Given the description of an element on the screen output the (x, y) to click on. 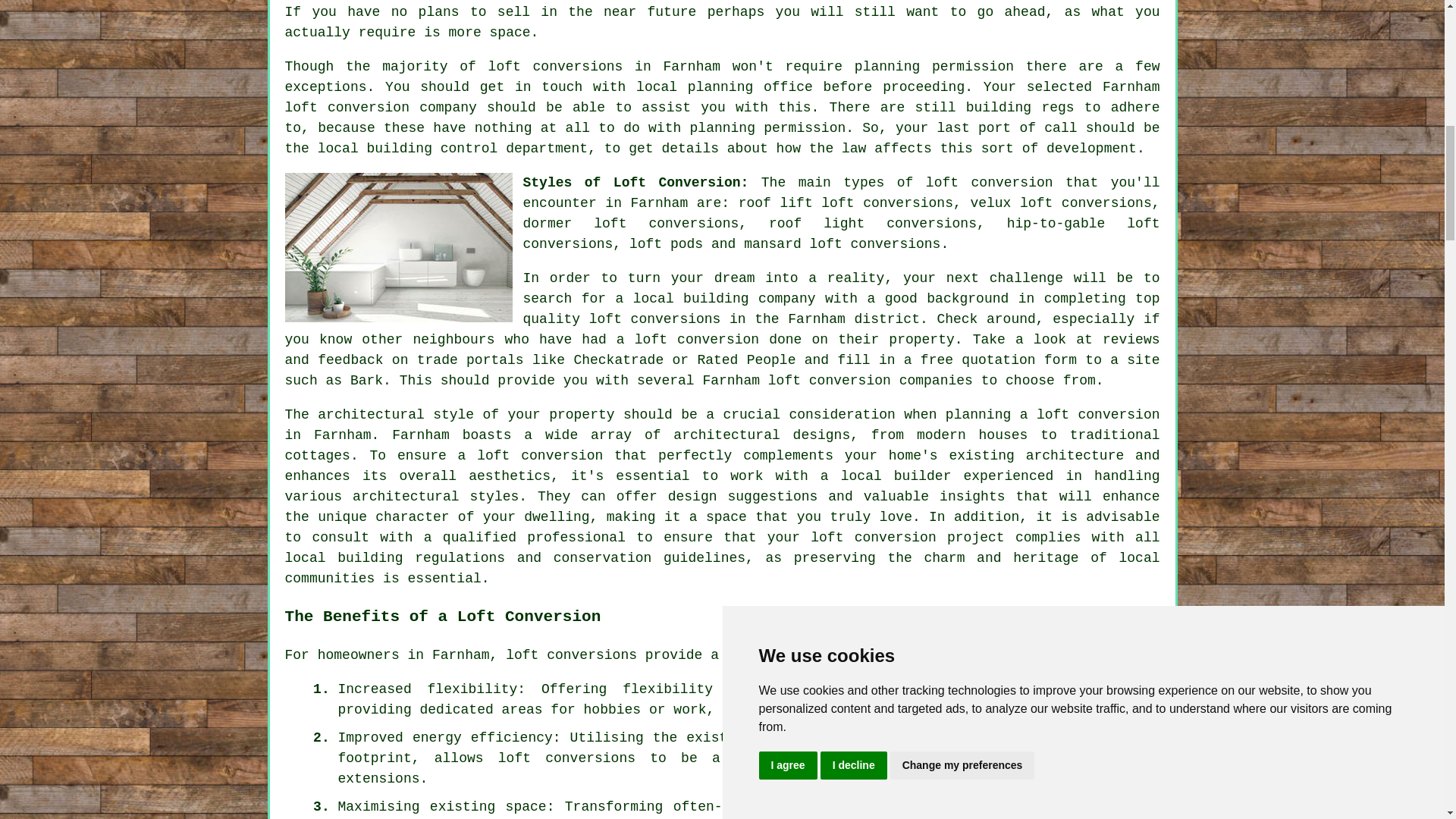
a loft conversion (1090, 414)
loft conversions (565, 758)
loft conversions (571, 654)
